Given the description of an element on the screen output the (x, y) to click on. 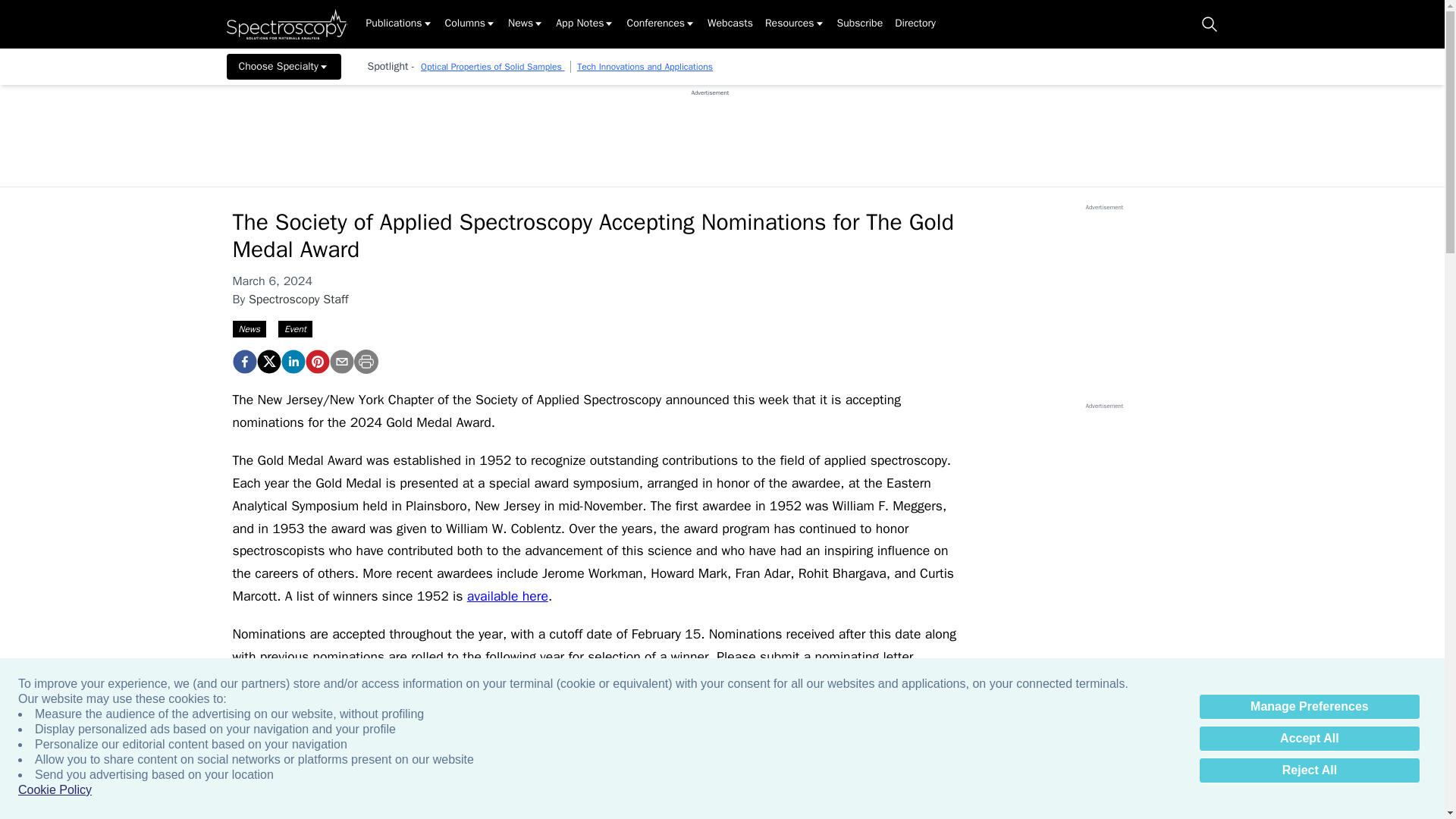
Manage Preferences (1309, 706)
Columns (470, 23)
Publications (398, 23)
Accept All (1309, 738)
3rd party ad content (709, 131)
App Notes (585, 23)
Cookie Policy (54, 789)
News (525, 23)
Reject All (1309, 769)
Conferences (660, 23)
